Given the description of an element on the screen output the (x, y) to click on. 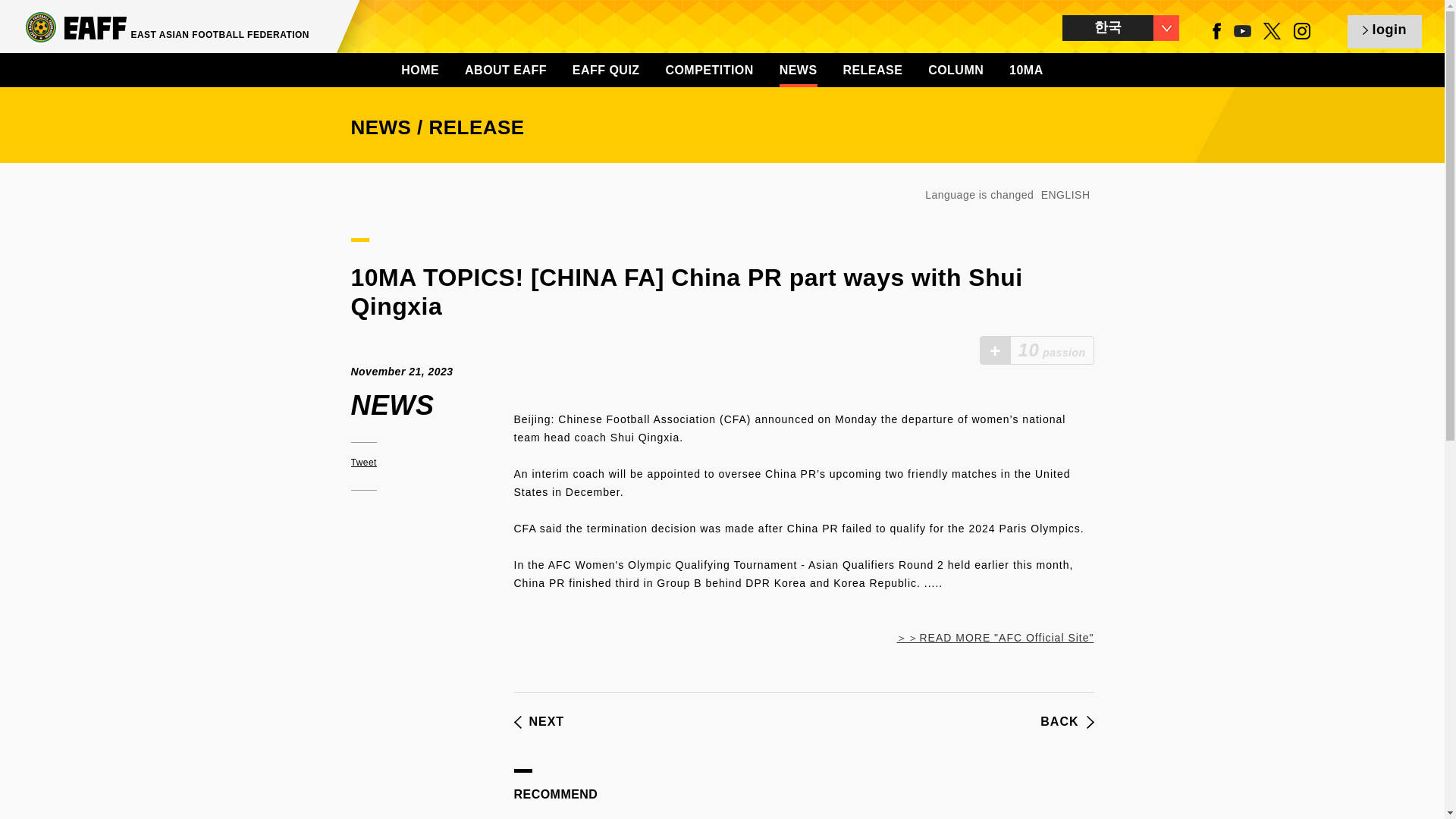
ENGLISH (1065, 194)
BACK (1067, 721)
10MA (1026, 69)
NEWS (797, 69)
EAFF QUIZ (606, 69)
HOME (420, 69)
COLUMN (956, 69)
login (1385, 31)
COMPETITION (708, 69)
ABOUT EAFF (505, 69)
